Given the description of an element on the screen output the (x, y) to click on. 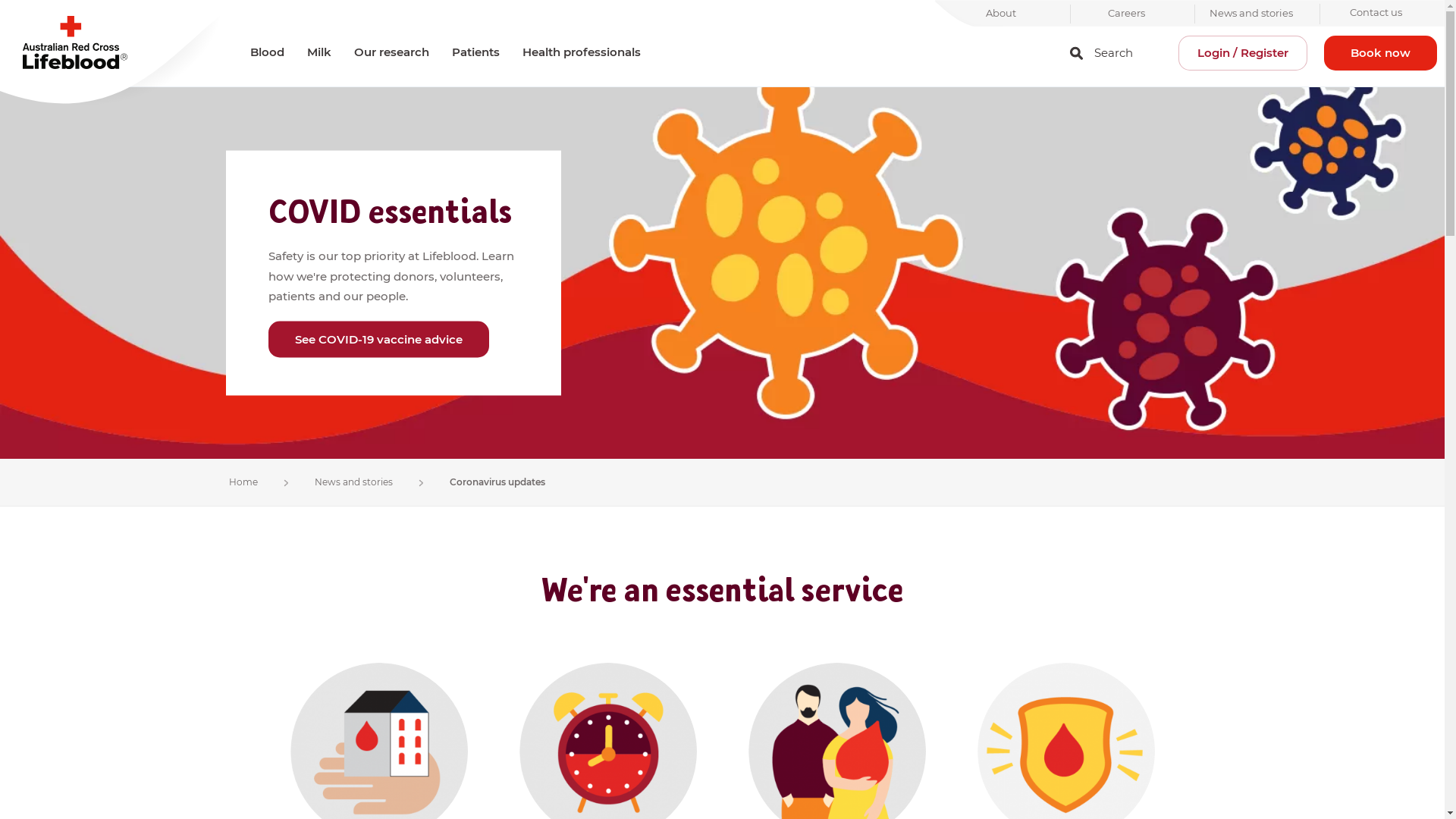
Login / Register Element type: text (1242, 52)
Home Element type: hover (113, 53)
Contact us Element type: text (1375, 13)
Skip to main content Element type: text (721, 1)
search Element type: hover (1076, 52)
See COVID-19 vaccine advice Element type: text (378, 339)
News and stories Element type: text (1250, 13)
Blood Element type: text (266, 52)
About Element type: text (1000, 13)
Health professionals Element type: text (581, 52)
News and stories Element type: text (353, 481)
Careers Element type: text (1126, 13)
Book now Element type: text (1380, 52)
Patients Element type: text (475, 52)
Home Element type: text (243, 481)
Milk Element type: text (318, 52)
Our research Element type: text (391, 52)
